Given the description of an element on the screen output the (x, y) to click on. 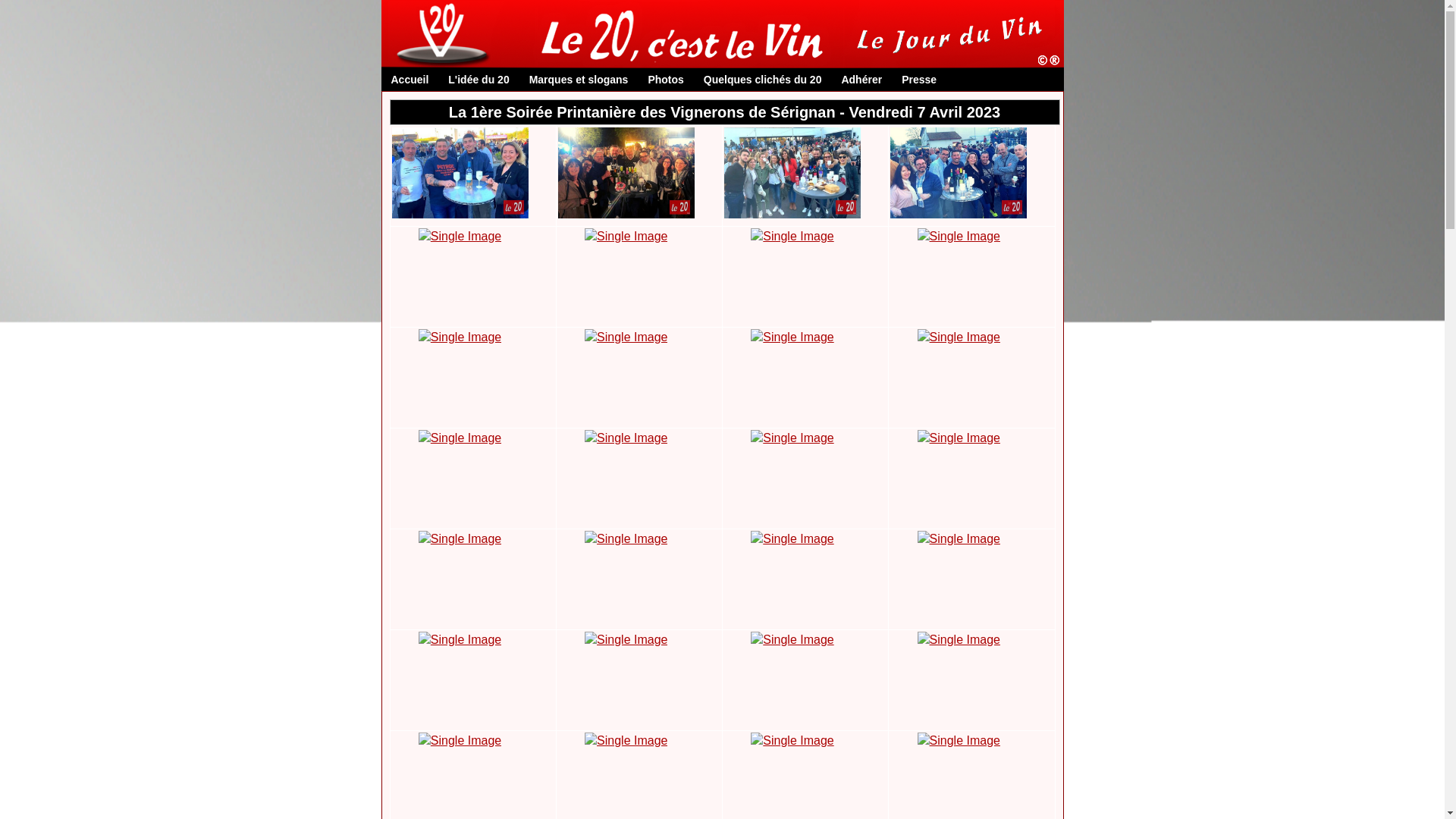
Marques et slogans Element type: text (578, 79)
Presse Element type: text (919, 79)
Photos Element type: text (665, 79)
Accueil Element type: text (409, 79)
